Given the description of an element on the screen output the (x, y) to click on. 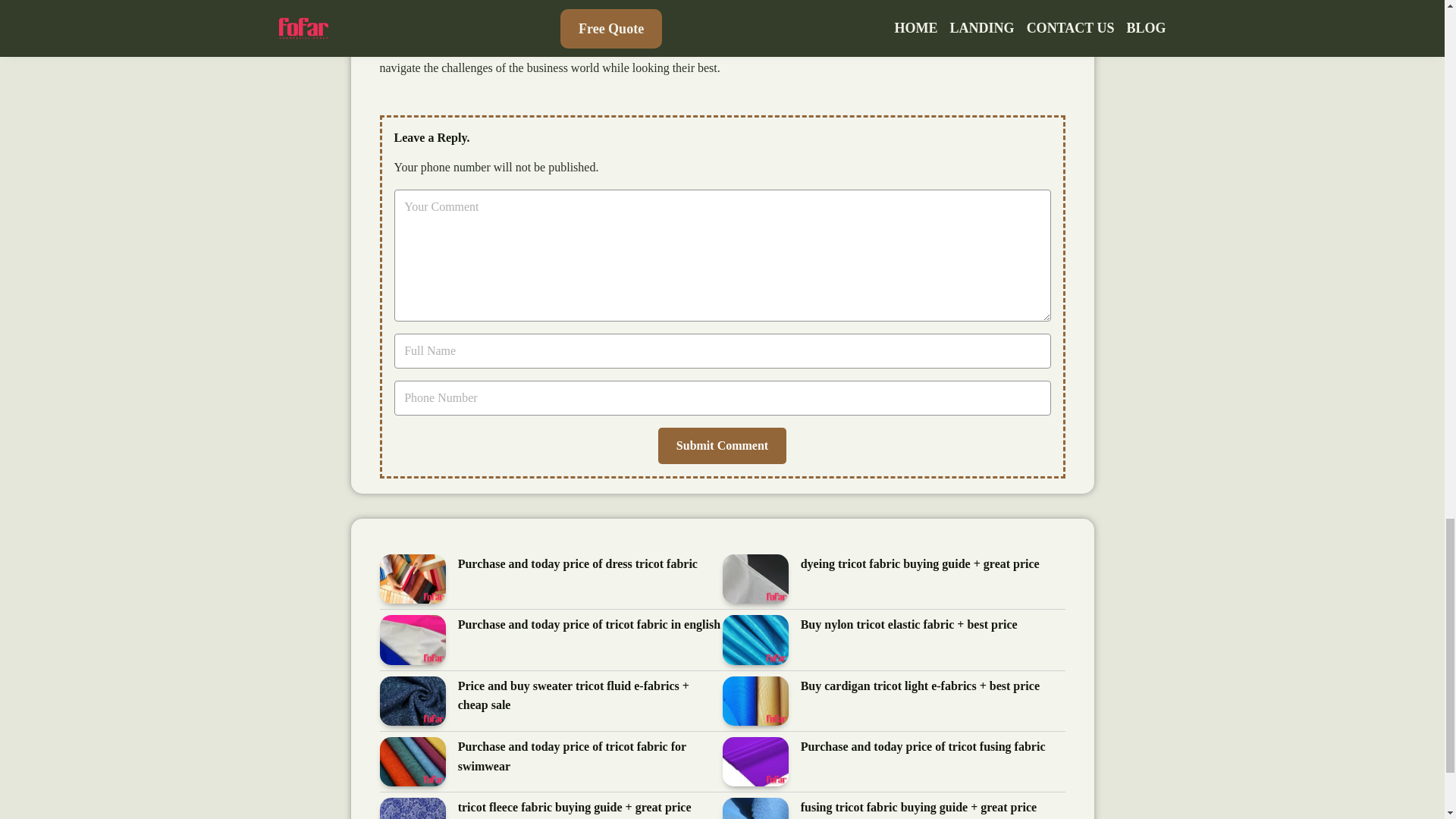
Submit Comment (722, 445)
Submit Comment (722, 445)
Purchase and today price of tricot fabric for swimwear (590, 756)
Purchase and today price of dress tricot fabric (577, 564)
Purchase and today price of tricot fusing fabric (922, 747)
Purchase and today price of tricot fabric in english (589, 625)
